Given the description of an element on the screen output the (x, y) to click on. 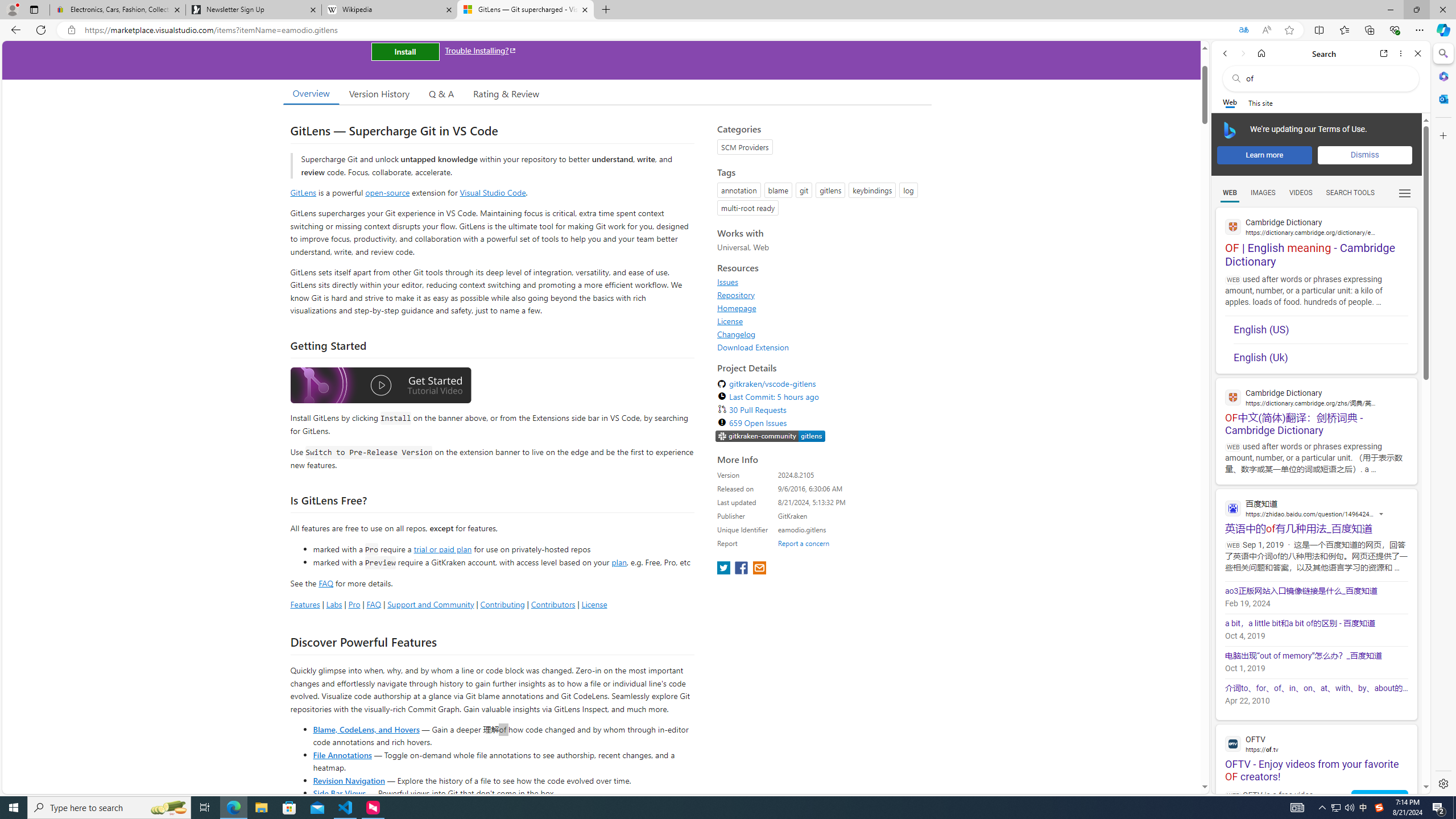
Download Extension (820, 346)
File Annotations (342, 754)
GitLens (303, 192)
License (820, 320)
Search Filter, Search Tools (1350, 192)
Global web icon (1232, 743)
Preferences (1403, 191)
Outlook (1442, 98)
